Given the description of an element on the screen output the (x, y) to click on. 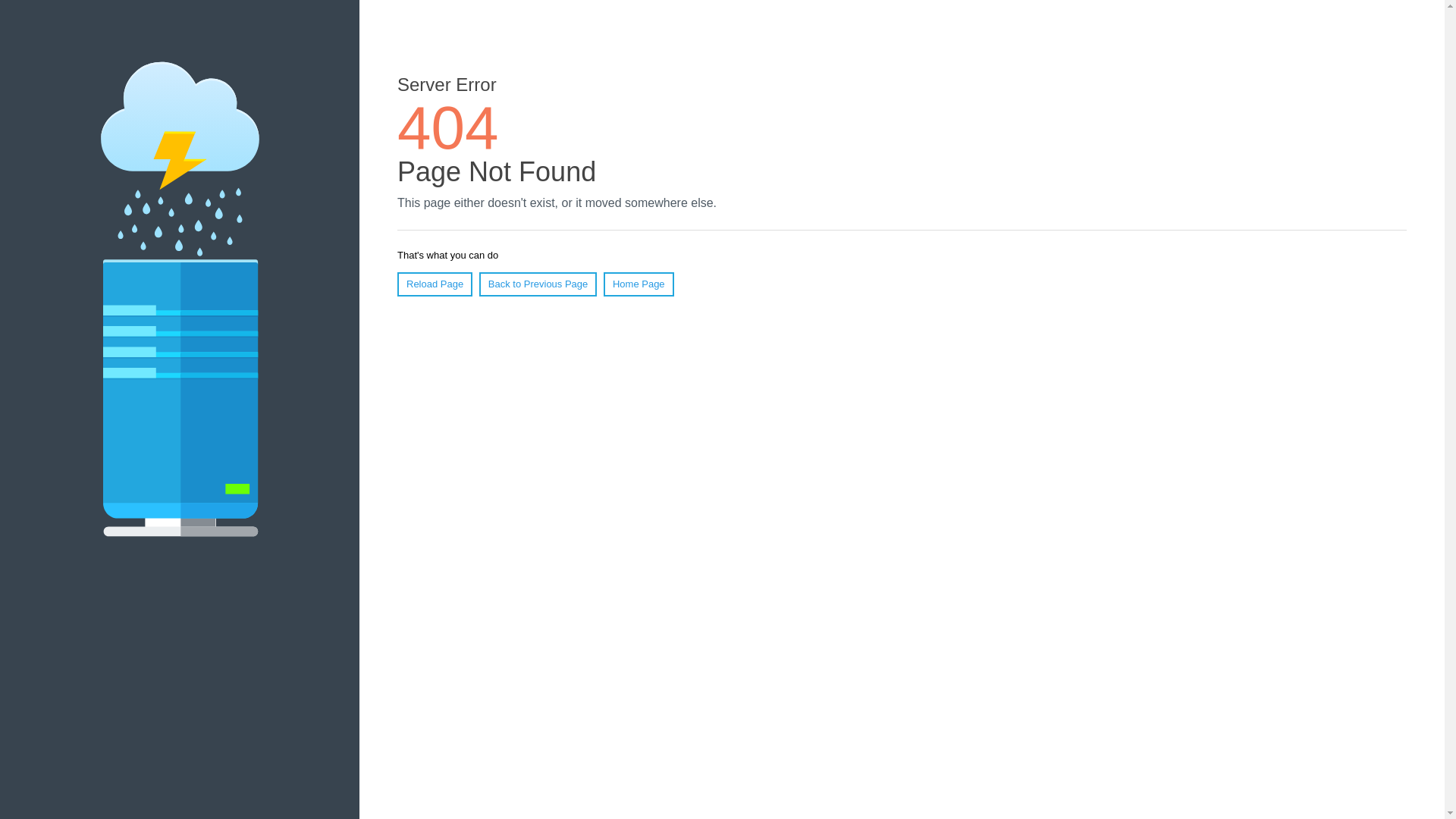
Back to Previous Page Element type: text (538, 284)
Reload Page Element type: text (434, 284)
Home Page Element type: text (638, 284)
